Given the description of an element on the screen output the (x, y) to click on. 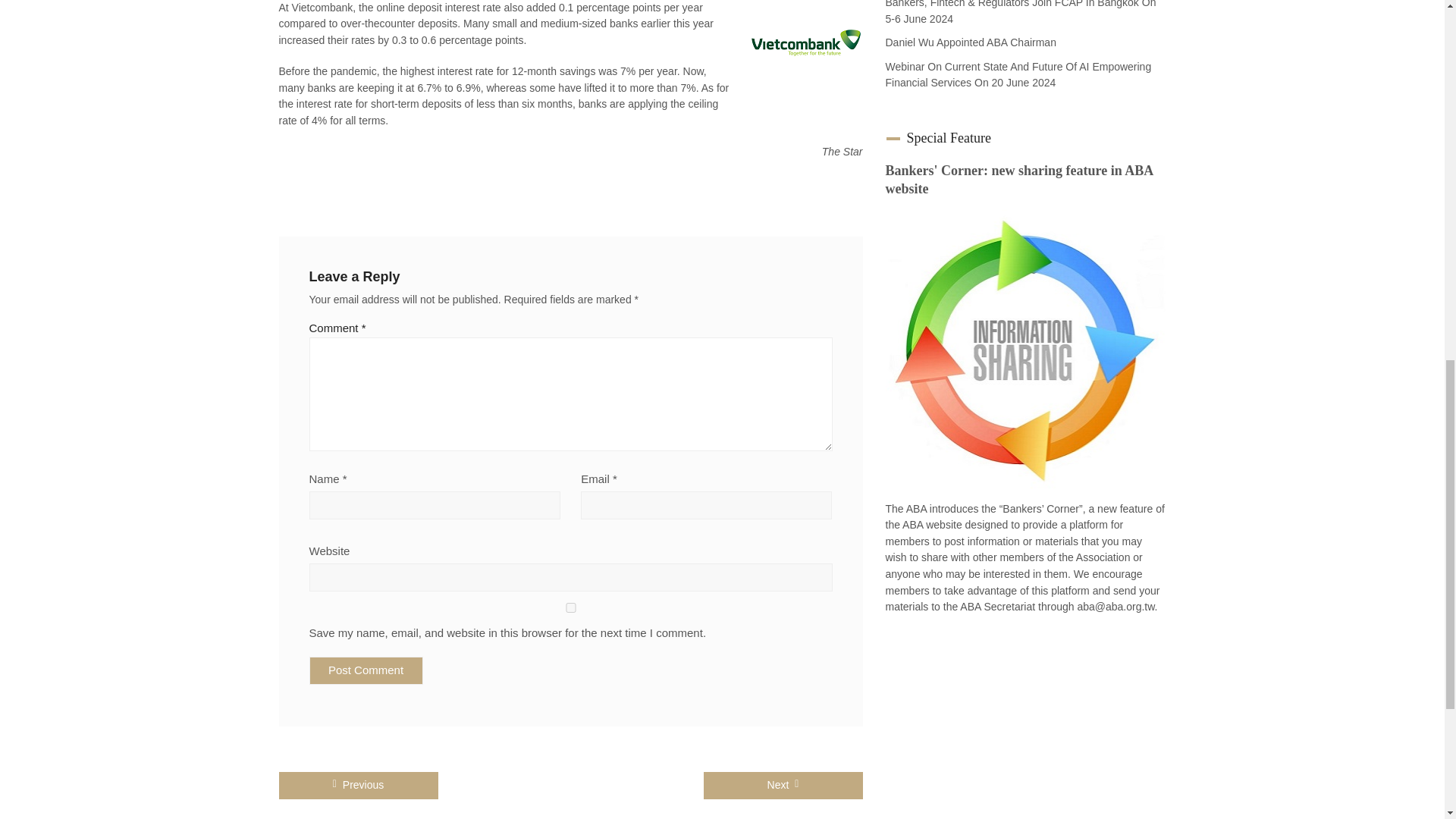
Post Comment (365, 670)
Post Comment (365, 670)
yes (570, 607)
Previous (358, 785)
Next (783, 785)
